Given the description of an element on the screen output the (x, y) to click on. 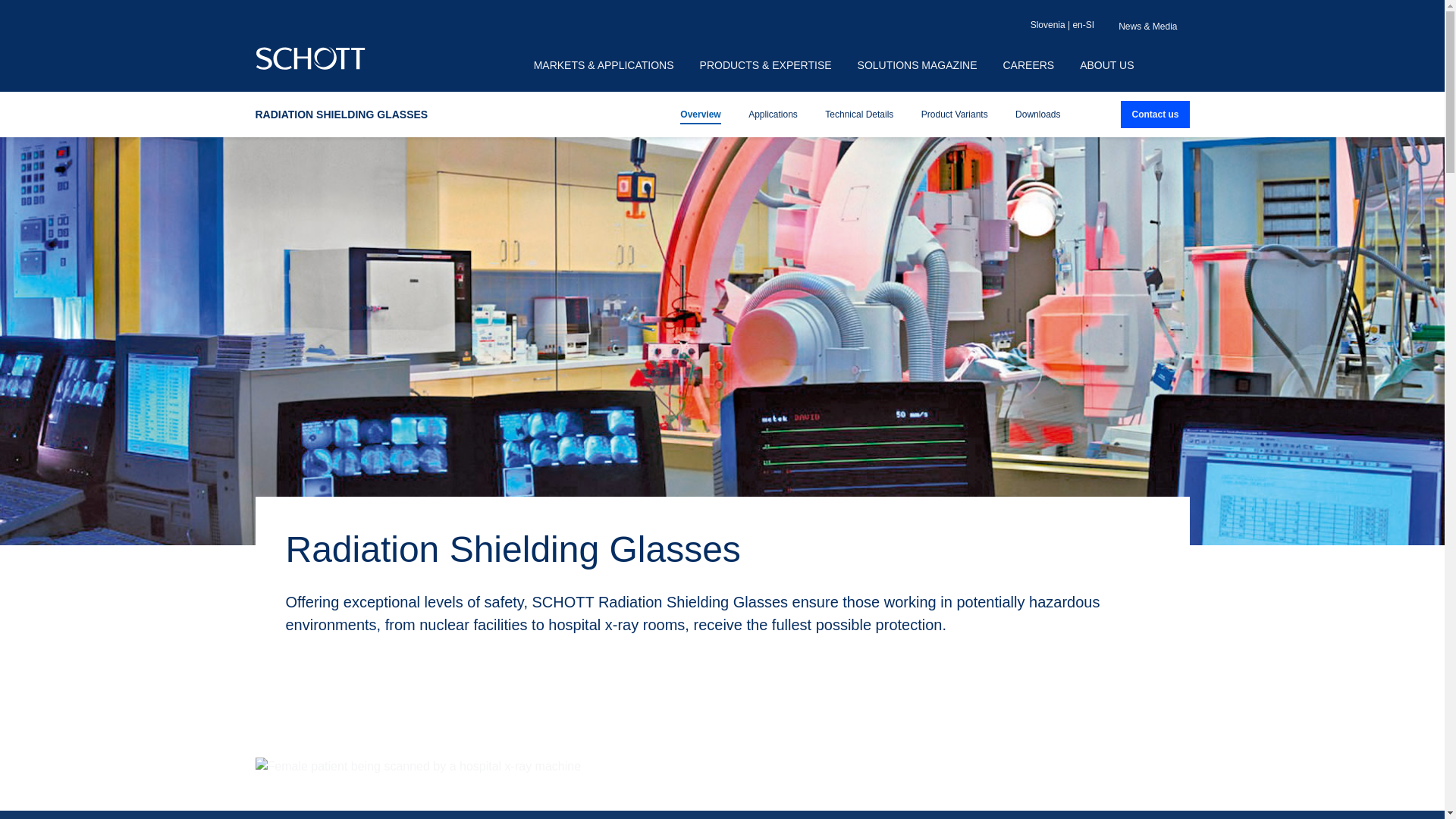
ABOUT US (1107, 65)
SOLUTIONS MAGAZINE (916, 65)
CAREERS (1028, 65)
